Given the description of an element on the screen output the (x, y) to click on. 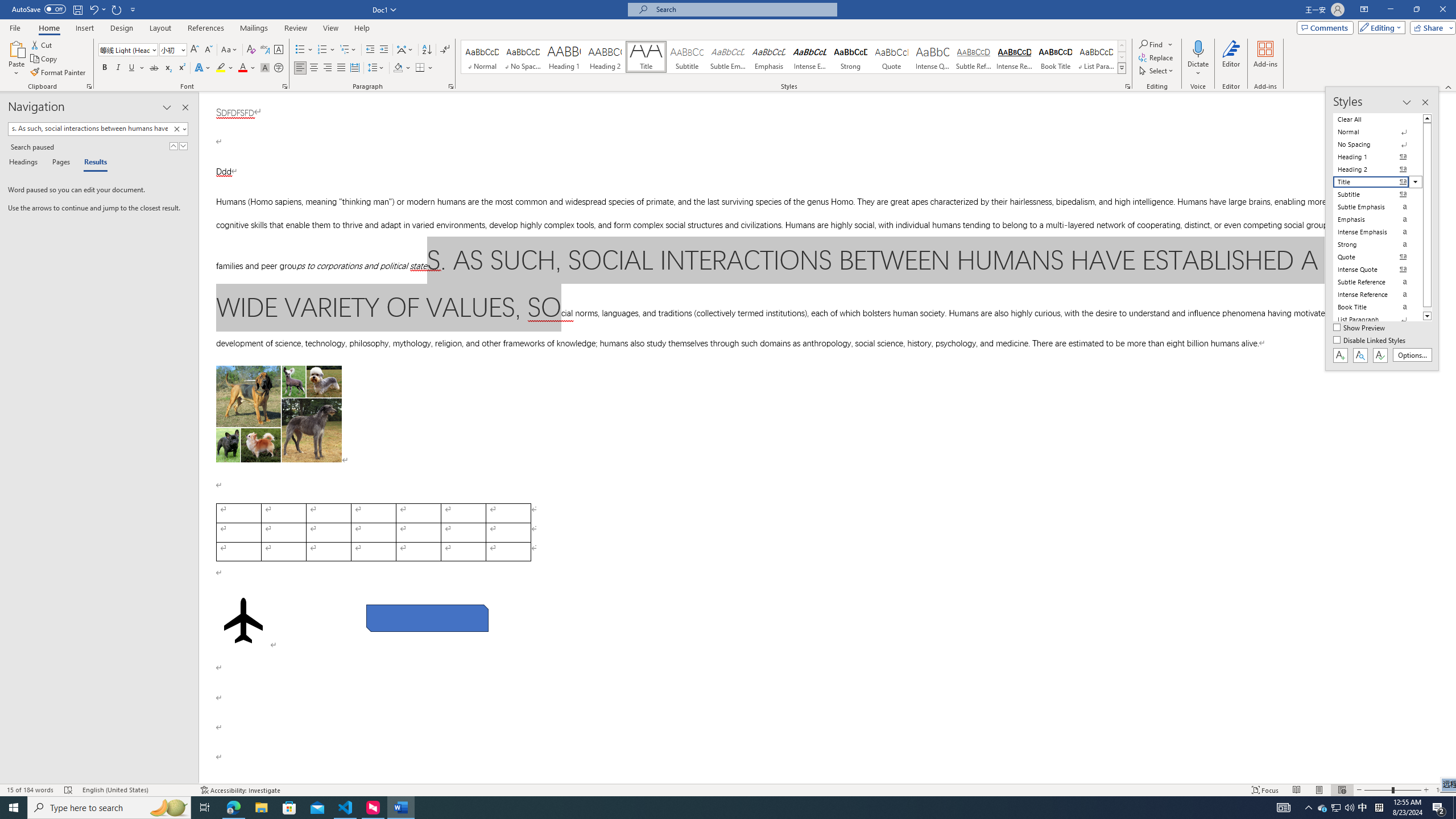
Font Color RGB(255, 0, 0) (241, 67)
Zoom 100% (1443, 790)
Quote (891, 56)
Normal (1377, 131)
Class: NetUIButton (1380, 355)
Previous Result (173, 145)
Strong (849, 56)
